Given the description of an element on the screen output the (x, y) to click on. 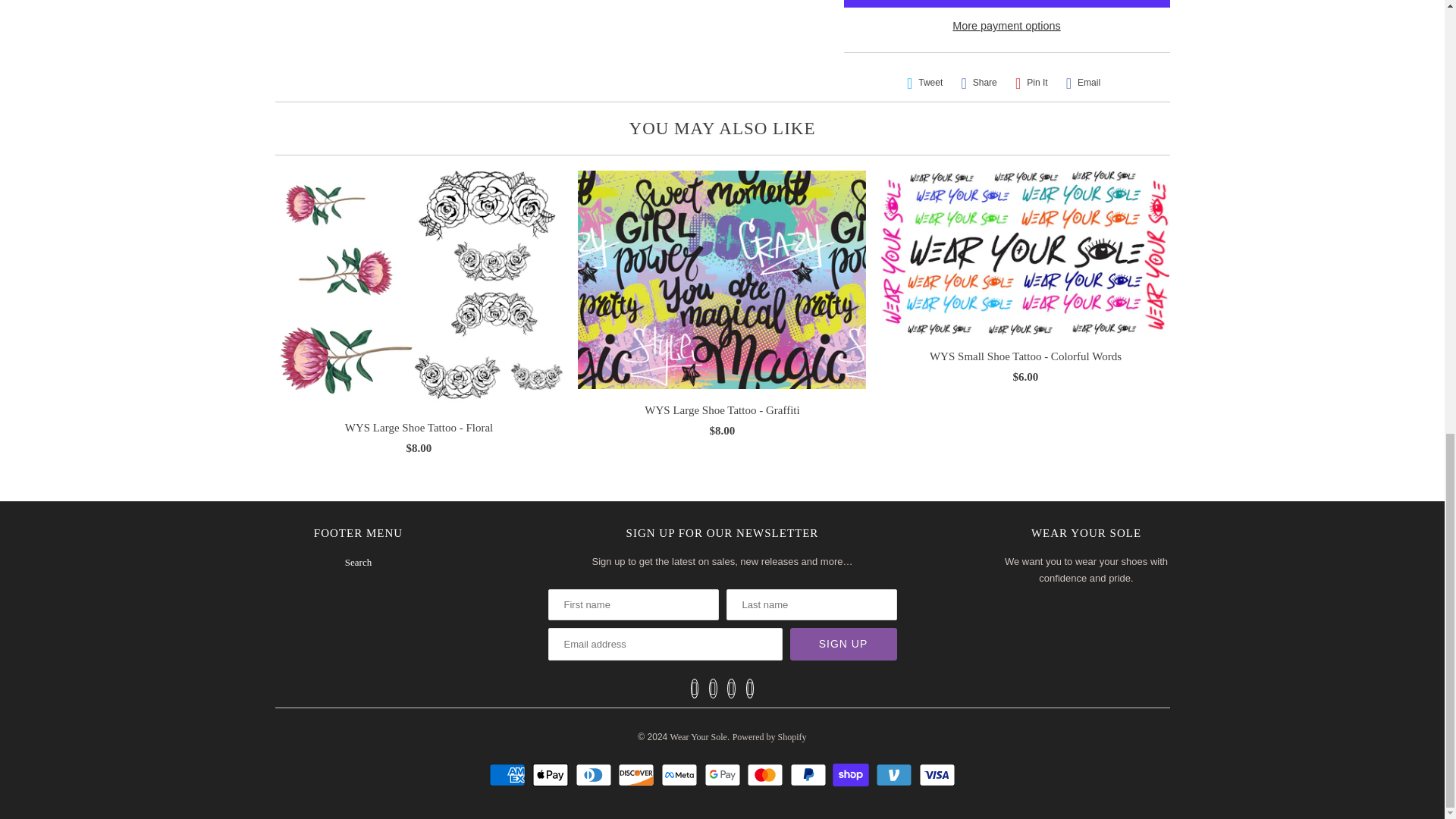
Meta Pay (681, 774)
Discover (637, 774)
Google Pay (723, 774)
Venmo (895, 774)
Share this on Twitter (924, 82)
Diners Club (595, 774)
Sign Up (843, 644)
PayPal (809, 774)
Visa (936, 774)
Apple Pay (552, 774)
Shop Pay (852, 774)
Mastercard (766, 774)
American Express (509, 774)
